Given the description of an element on the screen output the (x, y) to click on. 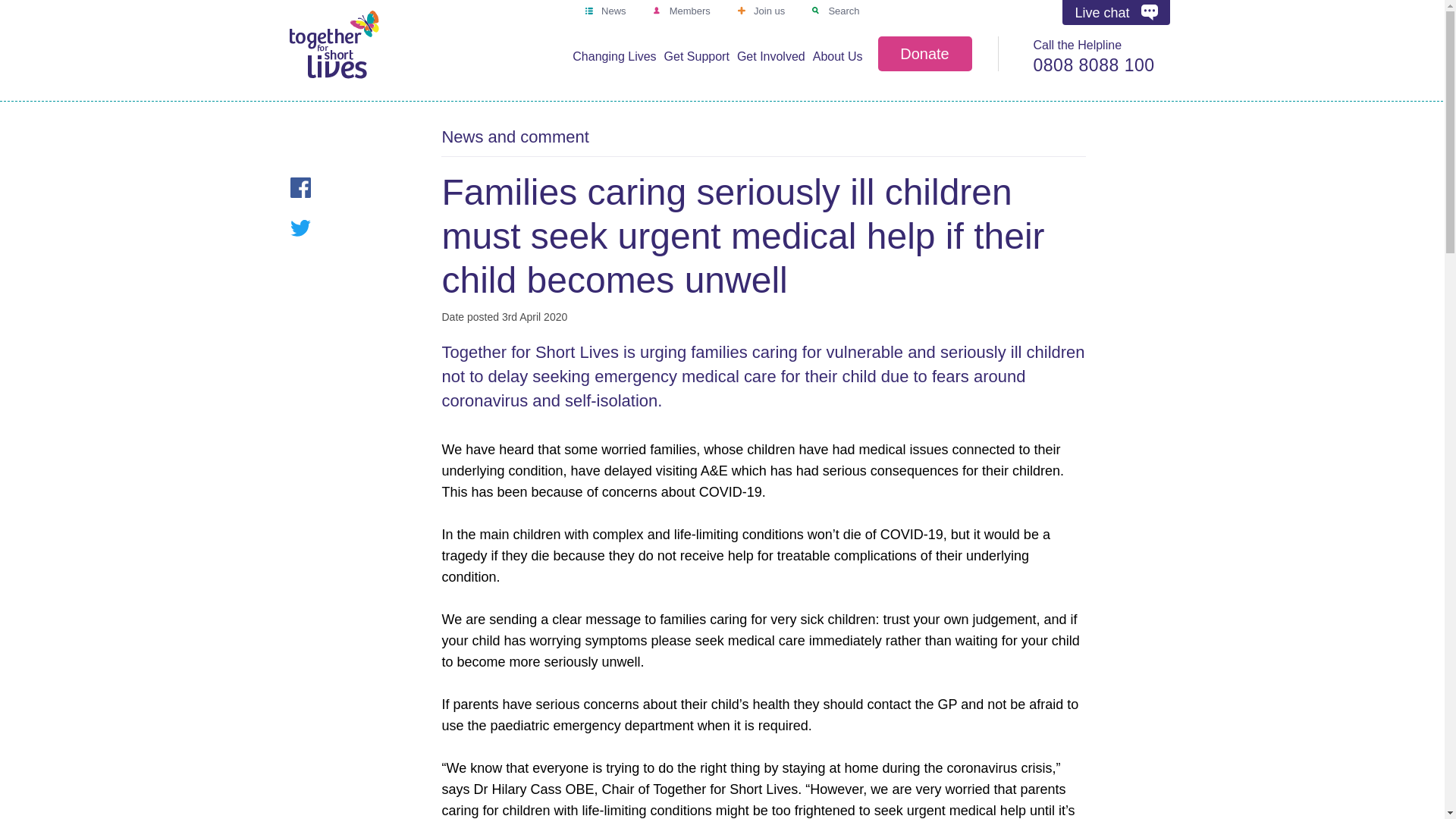
Join us (760, 10)
Members (681, 10)
News (605, 10)
Changing Lives (614, 57)
Search (836, 10)
Get Support (696, 57)
